Given the description of an element on the screen output the (x, y) to click on. 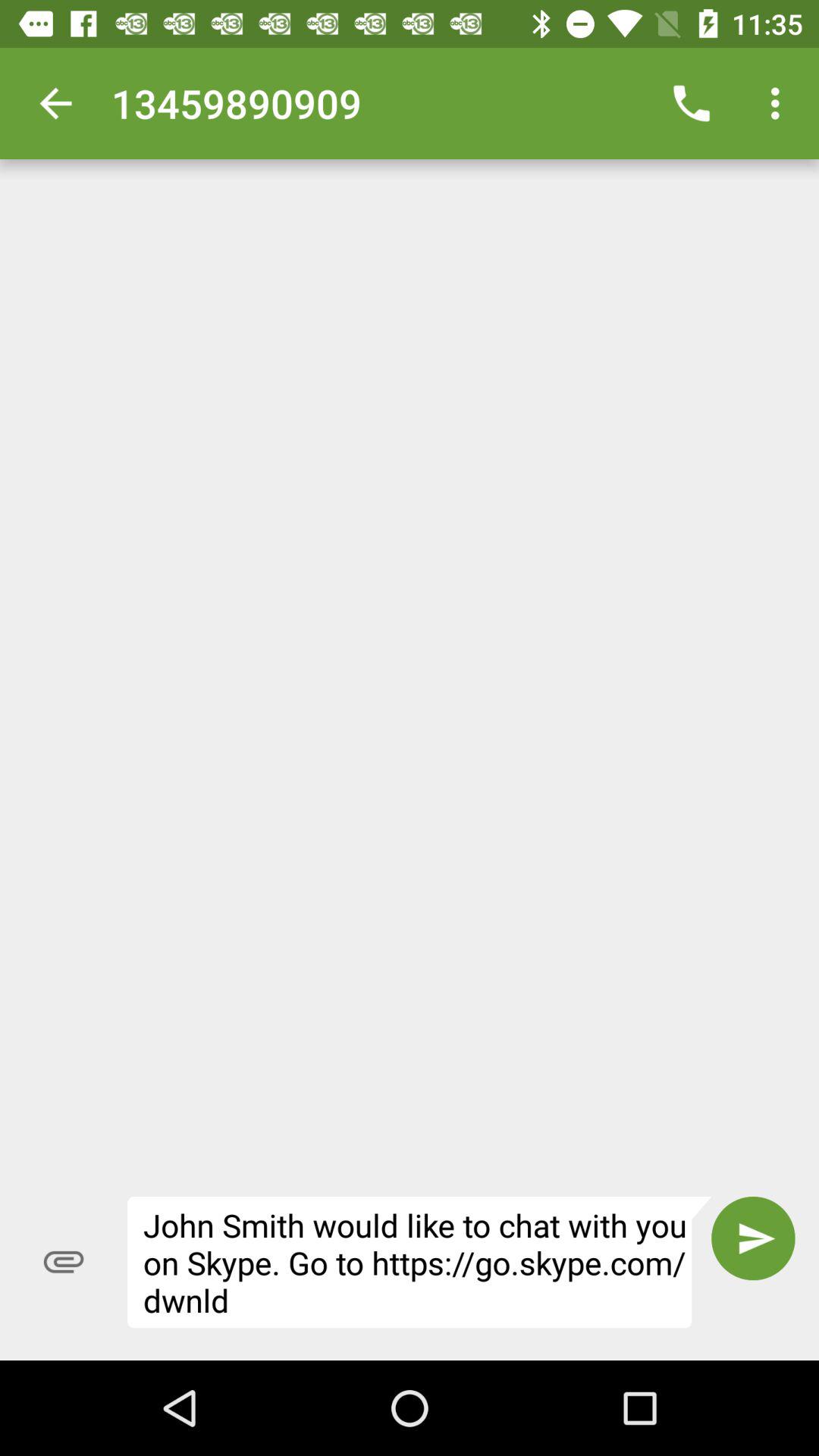
turn off the item to the right of the john smith would (753, 1238)
